Given the description of an element on the screen output the (x, y) to click on. 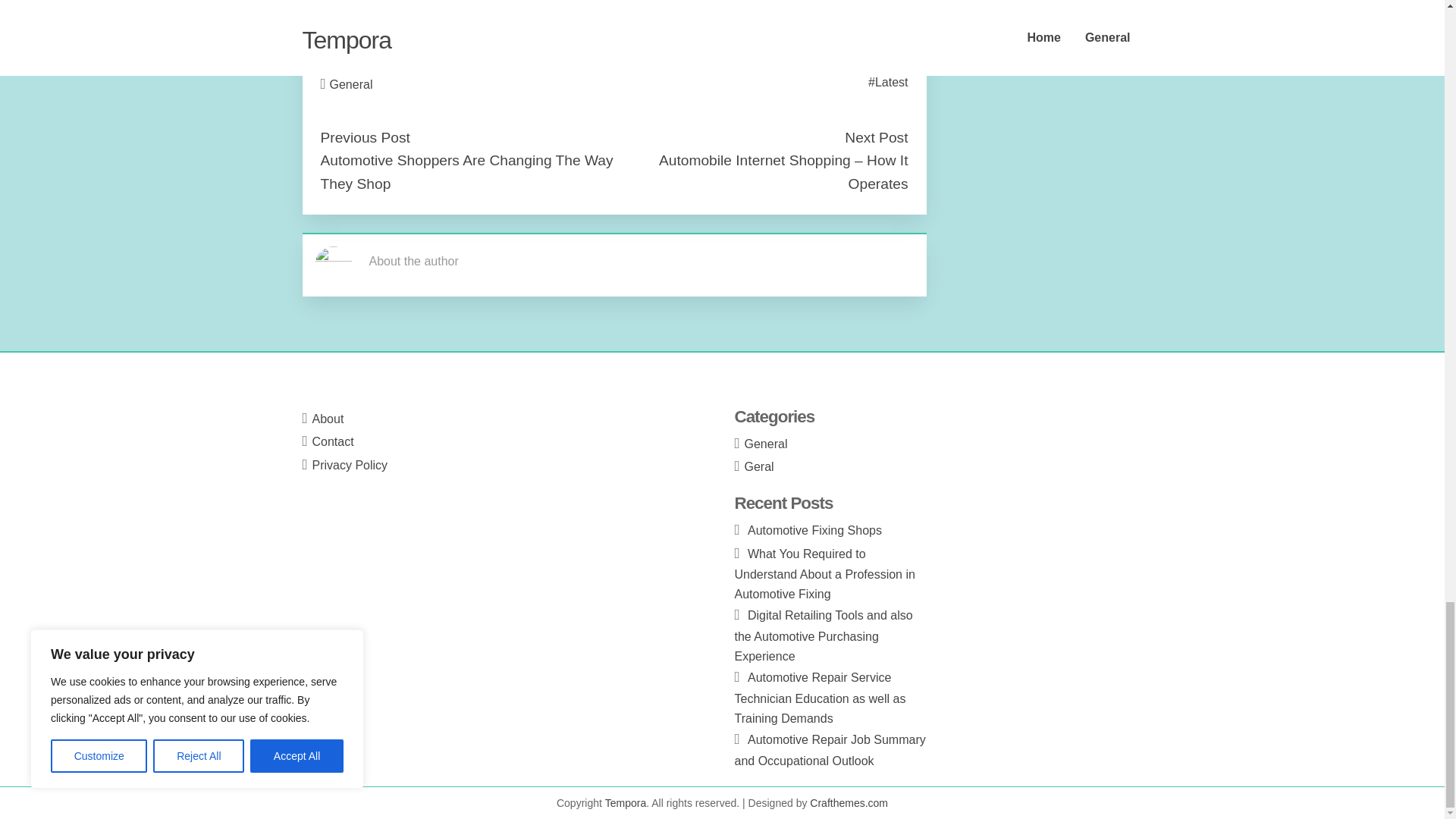
Previous Post (364, 137)
General (351, 83)
Next Post (875, 137)
Automotive Shoppers Are Changing The Way They Shop (466, 171)
visit our website (363, 31)
